Given the description of an element on the screen output the (x, y) to click on. 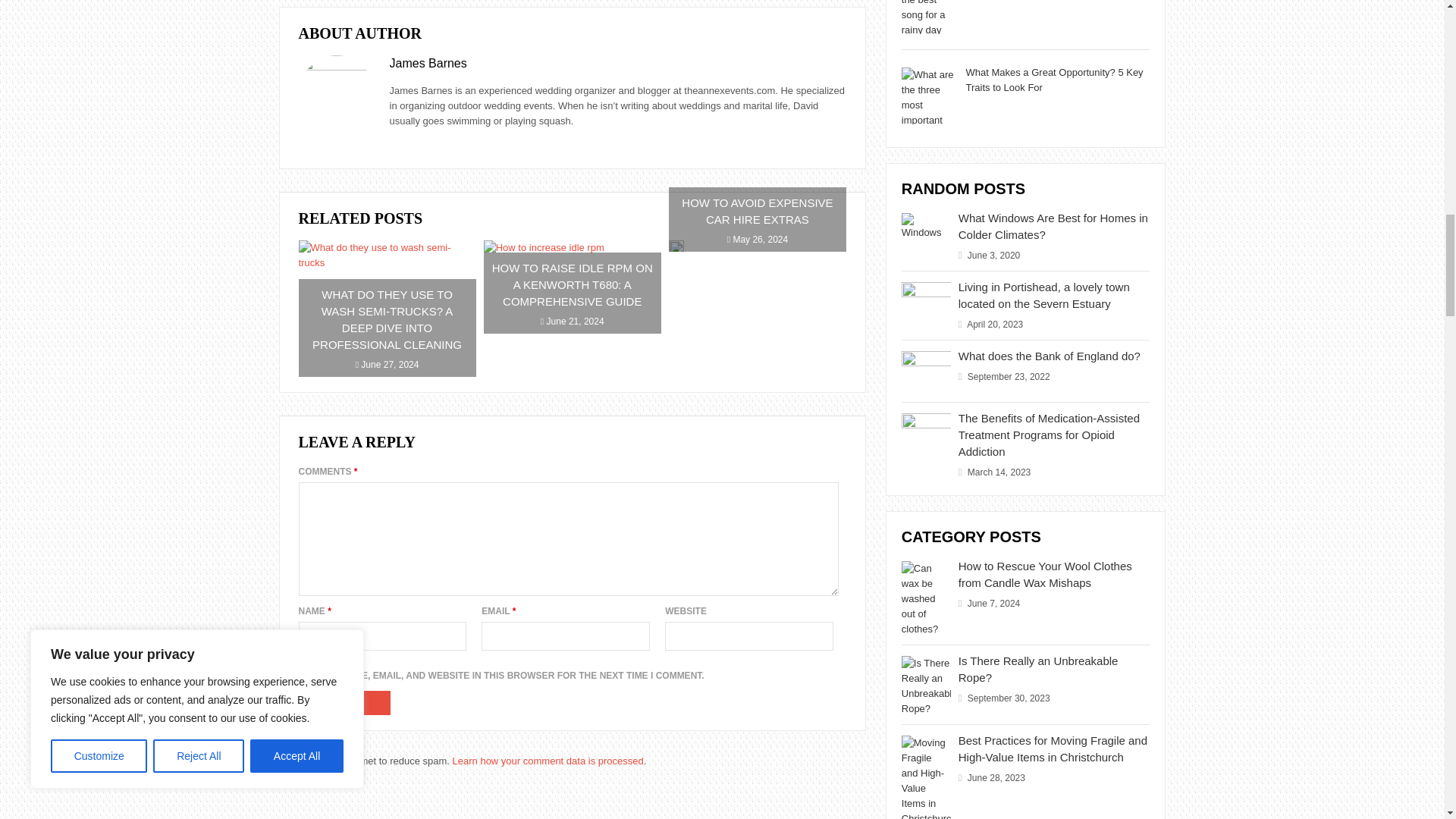
How to Rescue Your Wool Clothes from Candle Wax Mishaps (1045, 573)
What Windows Are Best for Homes in Colder Climates? (1053, 225)
What does the Bank of England do? (1049, 355)
Submit  (344, 702)
Is There Really an Unbreakable Rope? (1038, 668)
yes (303, 663)
